Given the description of an element on the screen output the (x, y) to click on. 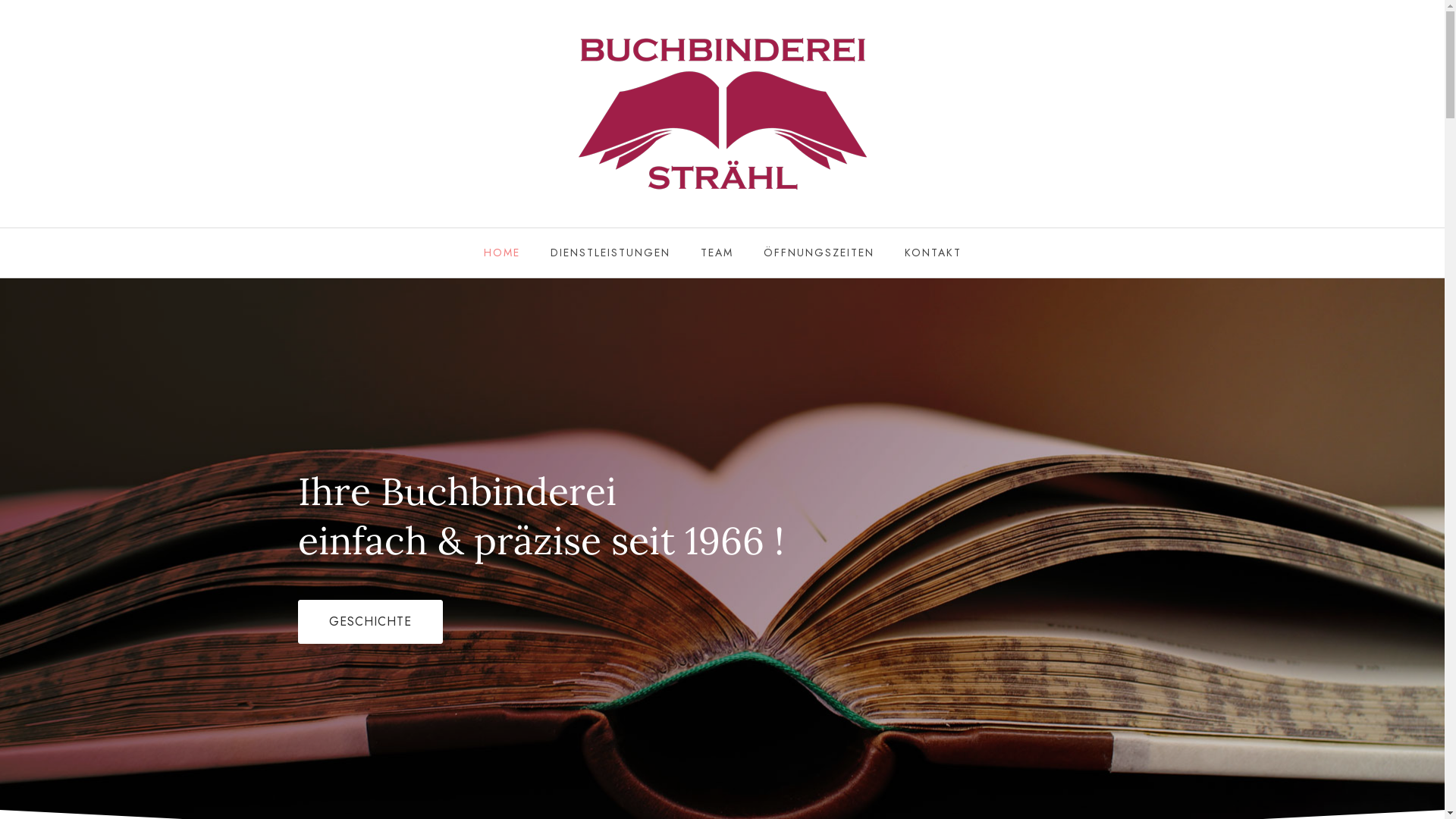
TEAM Element type: text (716, 252)
GESCHICHTE Element type: text (369, 621)
KONTAKT Element type: text (931, 252)
DIENSTLEISTUNGEN Element type: text (610, 252)
HOME Element type: text (501, 252)
